Given the description of an element on the screen output the (x, y) to click on. 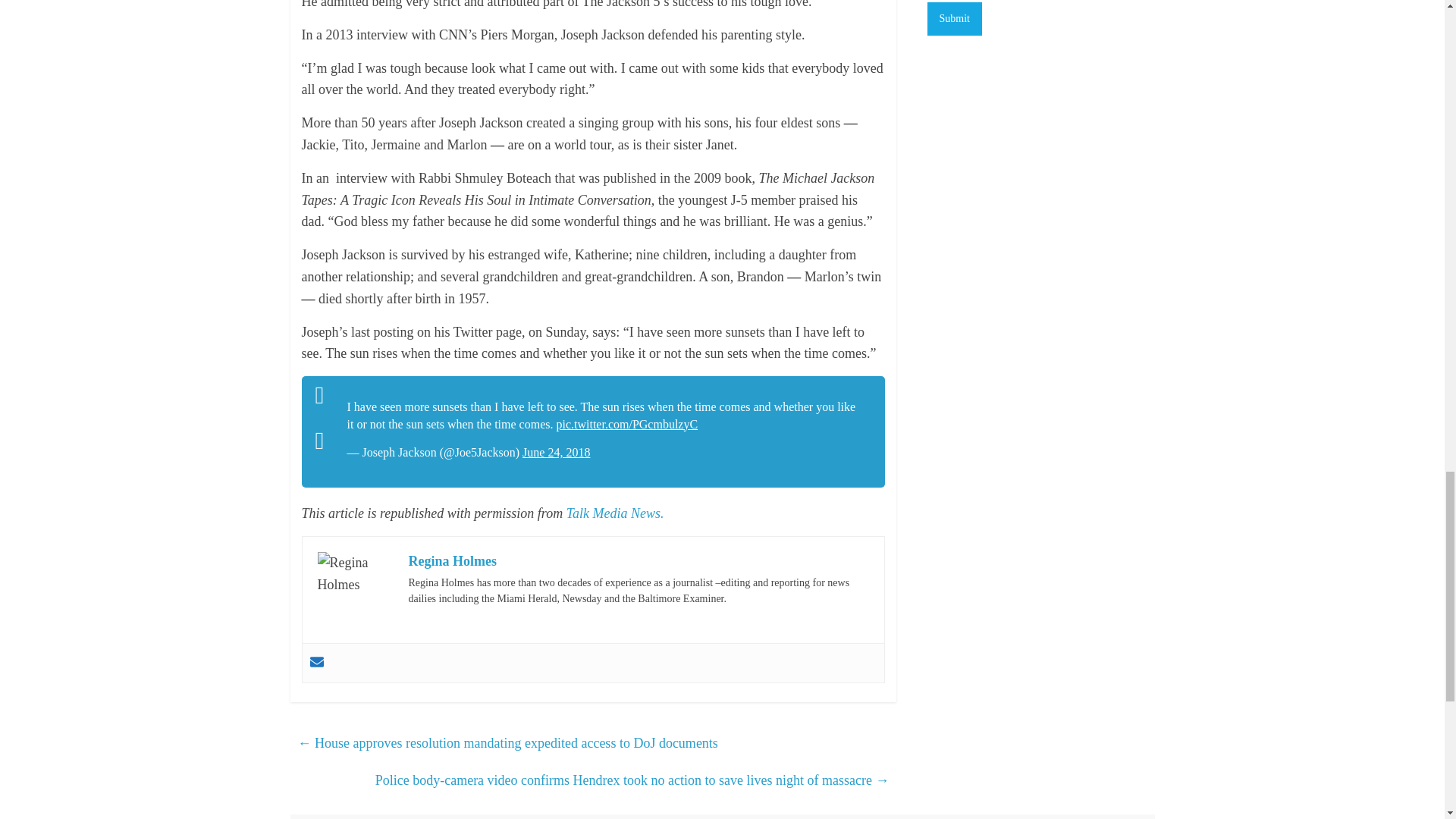
June 24, 2018 (555, 451)
Talk Media News. (614, 513)
Regina Holmes (451, 560)
